Given the description of an element on the screen output the (x, y) to click on. 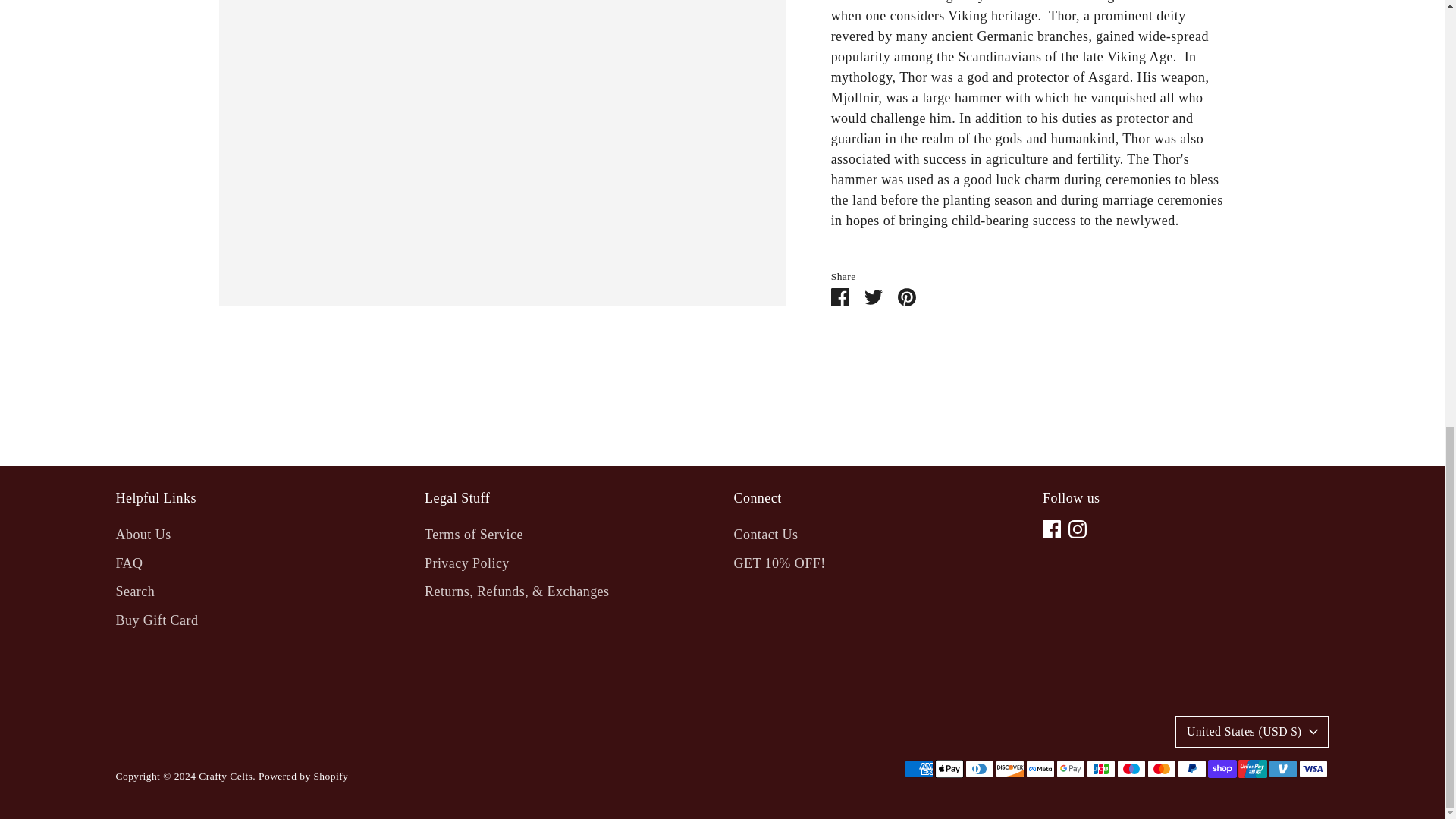
Apple Pay (948, 769)
American Express (918, 769)
